Given the description of an element on the screen output the (x, y) to click on. 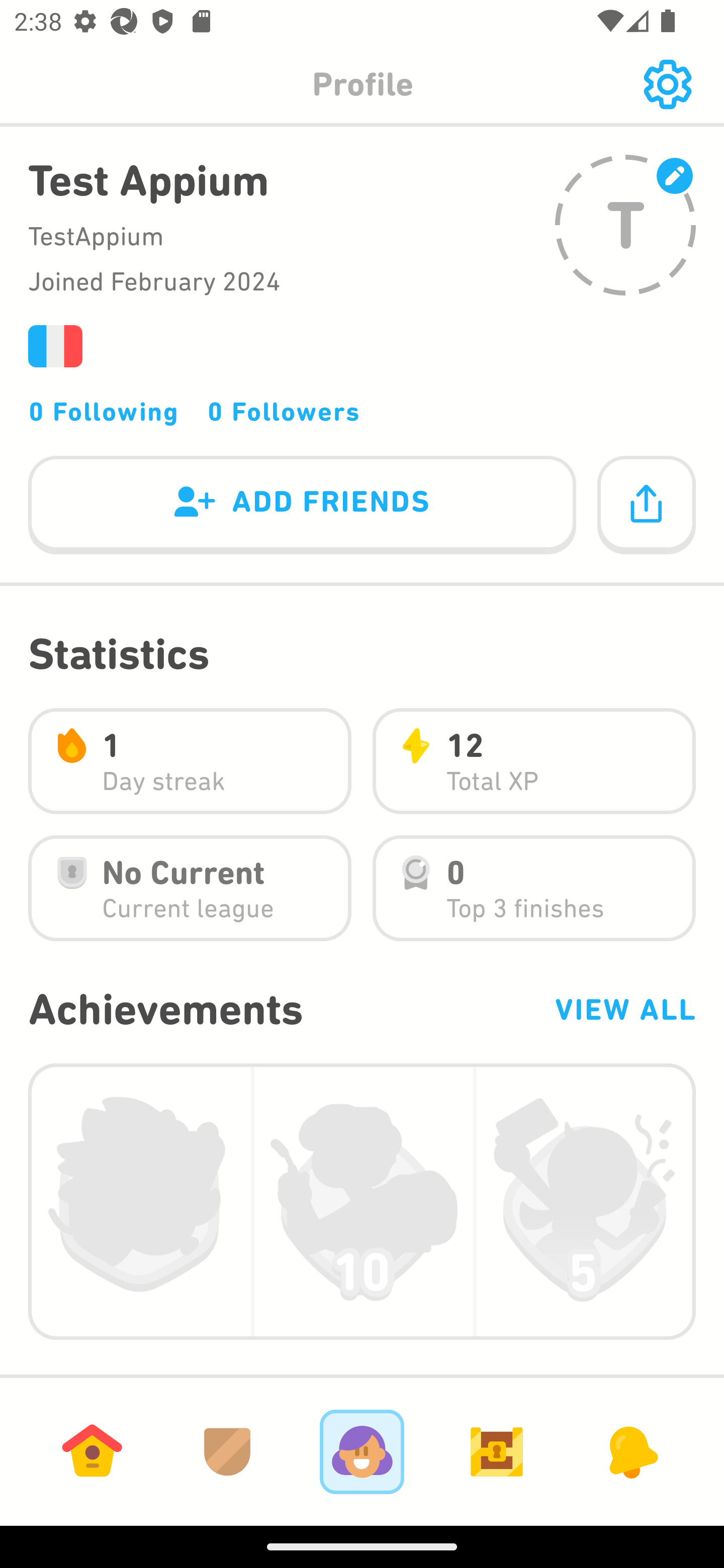
Settings (667, 84)
0 Following (103, 411)
0 Followers (283, 411)
ADD FRIENDS (302, 505)
1 Day streak (189, 760)
VIEW ALL (624, 1009)
Learn Tab (91, 1451)
Leagues Tab (227, 1451)
Profile Tab (361, 1451)
Goals Tab (496, 1451)
News Tab (631, 1451)
